Given the description of an element on the screen output the (x, y) to click on. 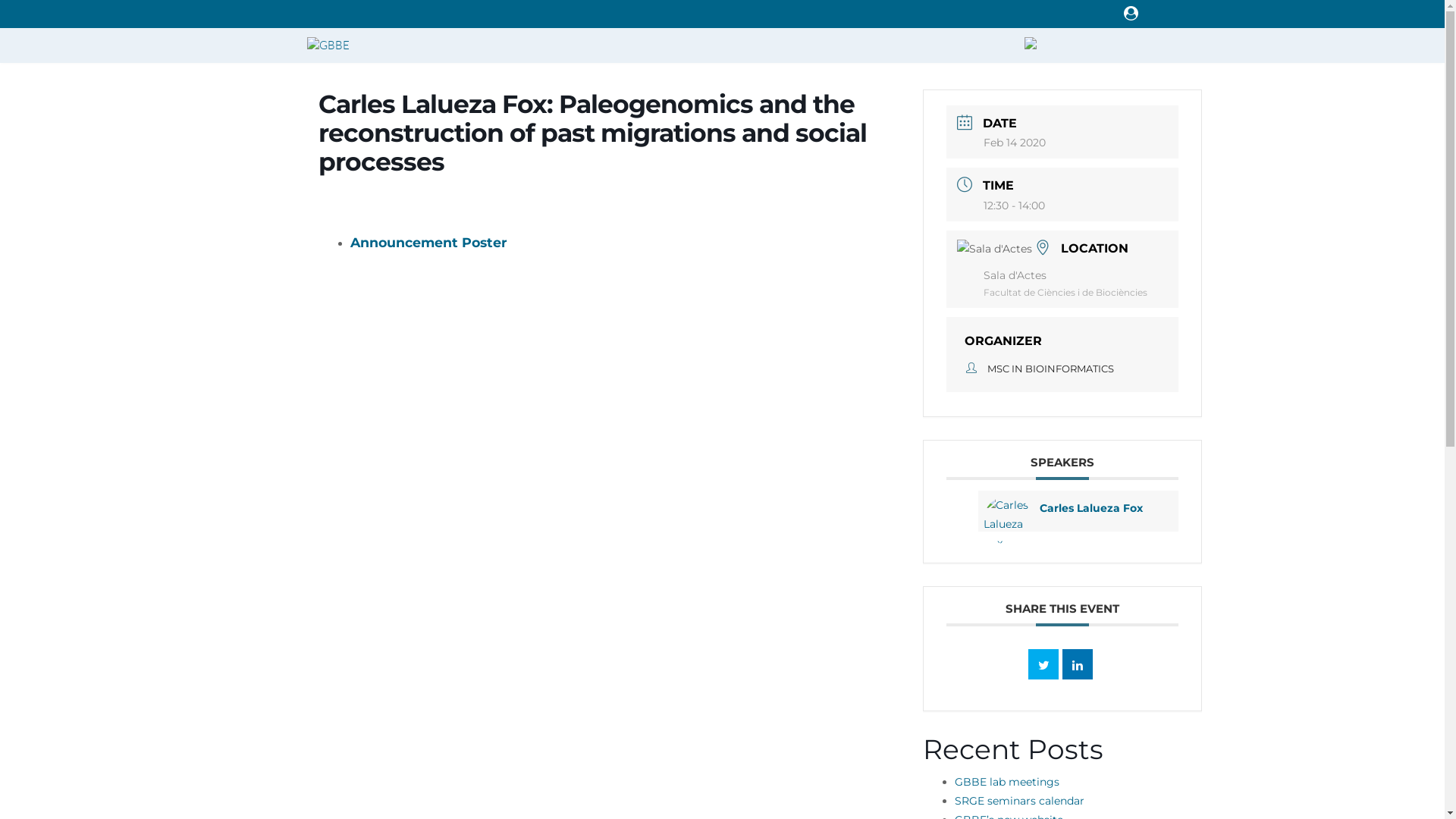
Linkedin Element type: hover (1077, 664)
GBBE lab meetings Element type: text (1006, 781)
Tweet Element type: hover (1043, 664)
Carles Lalueza Fox Element type: text (1087, 507)
UAB Element type: hover (1029, 44)
Intranet Element type: hover (1130, 10)
SRGE seminars calendar Element type: text (1019, 800)
Announcement Poster Element type: text (428, 242)
